Given the description of an element on the screen output the (x, y) to click on. 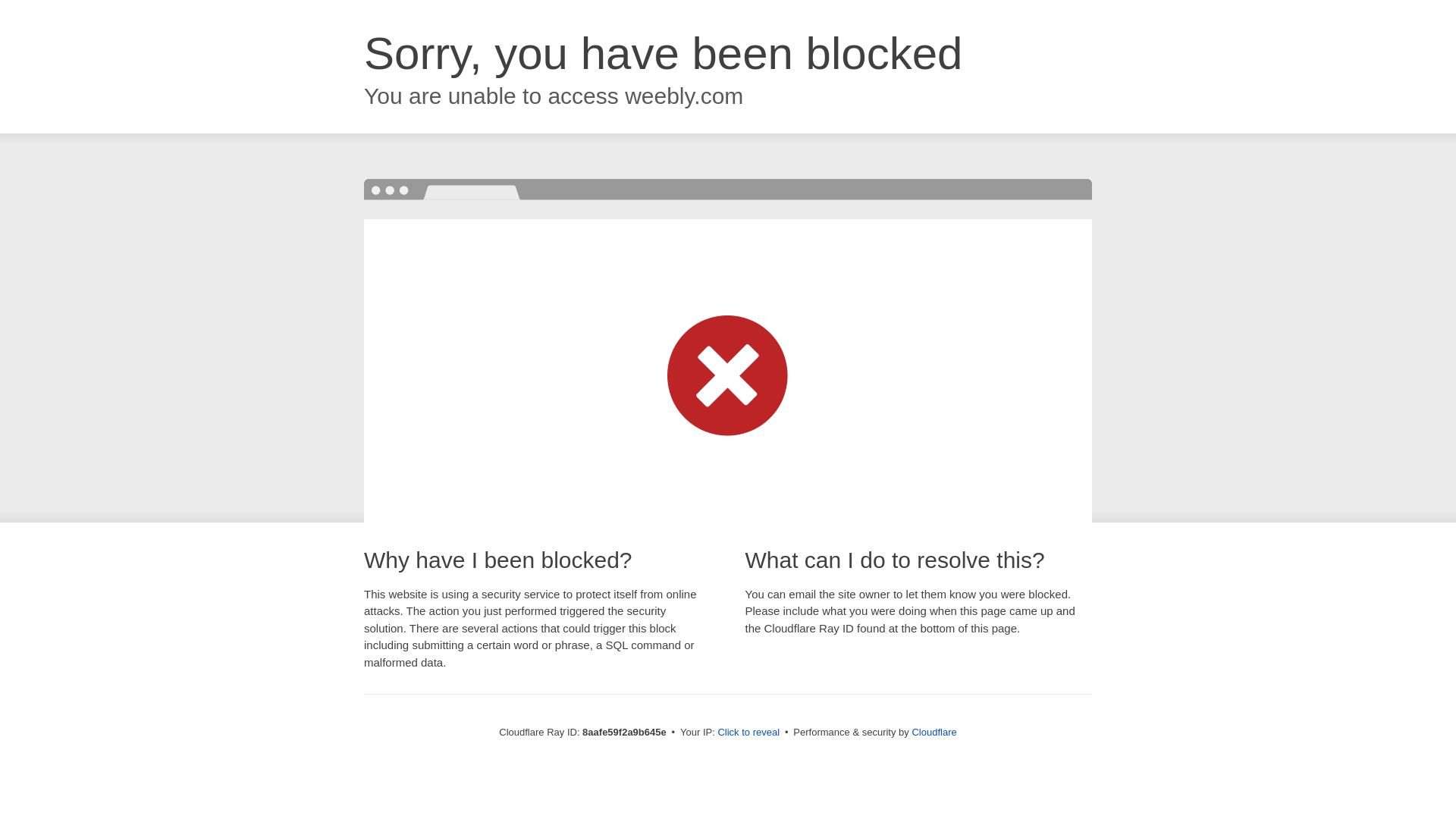
Click to reveal (747, 732)
Cloudflare (933, 731)
